Given the description of an element on the screen output the (x, y) to click on. 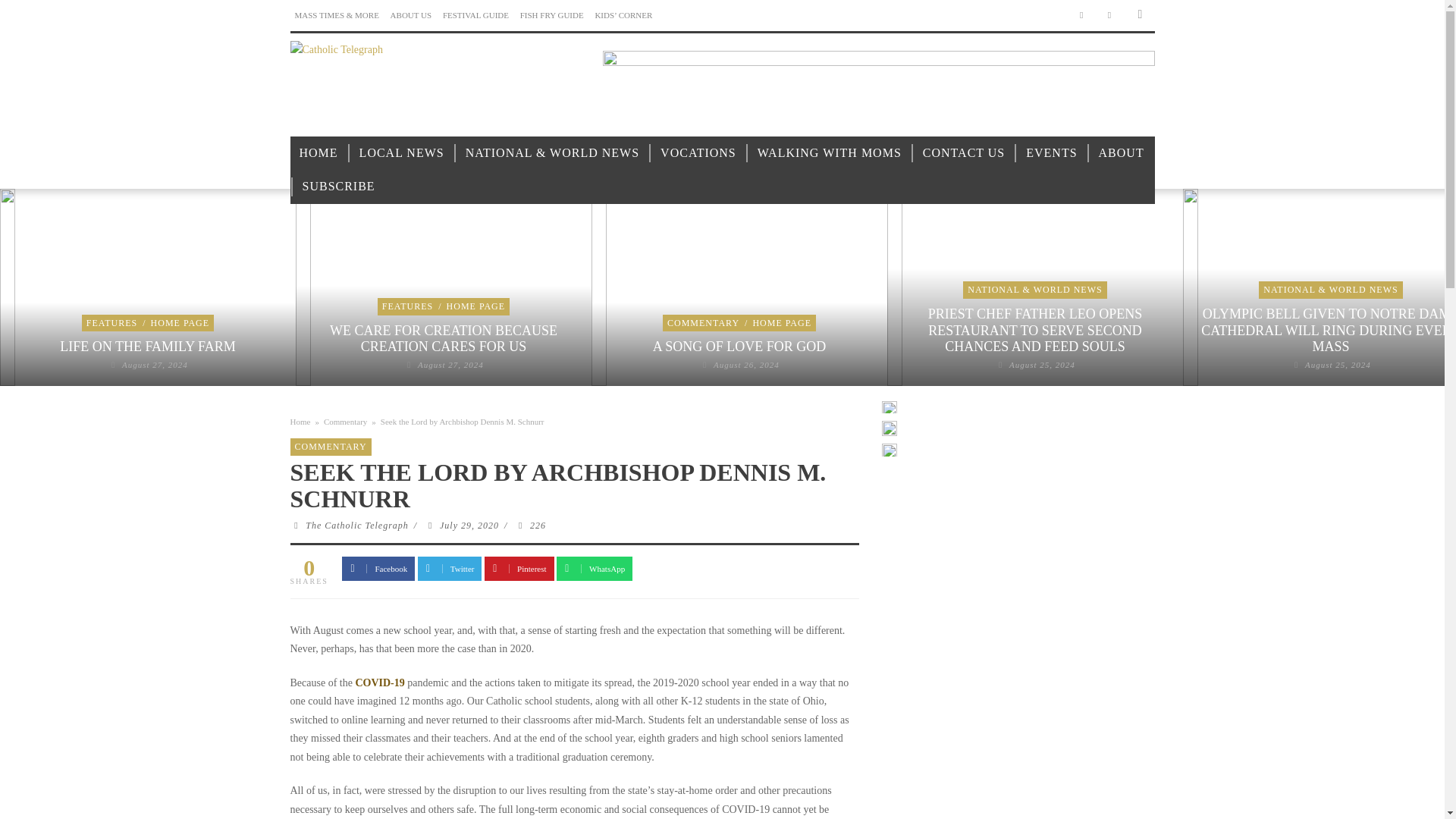
ABOUT US (410, 15)
View all posts in Home Page (476, 306)
View all posts in Home Page (180, 322)
WALKING WITH MOMS (829, 153)
Permalink to Life on the Family Farm (154, 364)
CONTACT US (963, 153)
SUBSCRIBE (338, 186)
Walking with Moms (829, 153)
EVENTS (1051, 153)
